Given the description of an element on the screen output the (x, y) to click on. 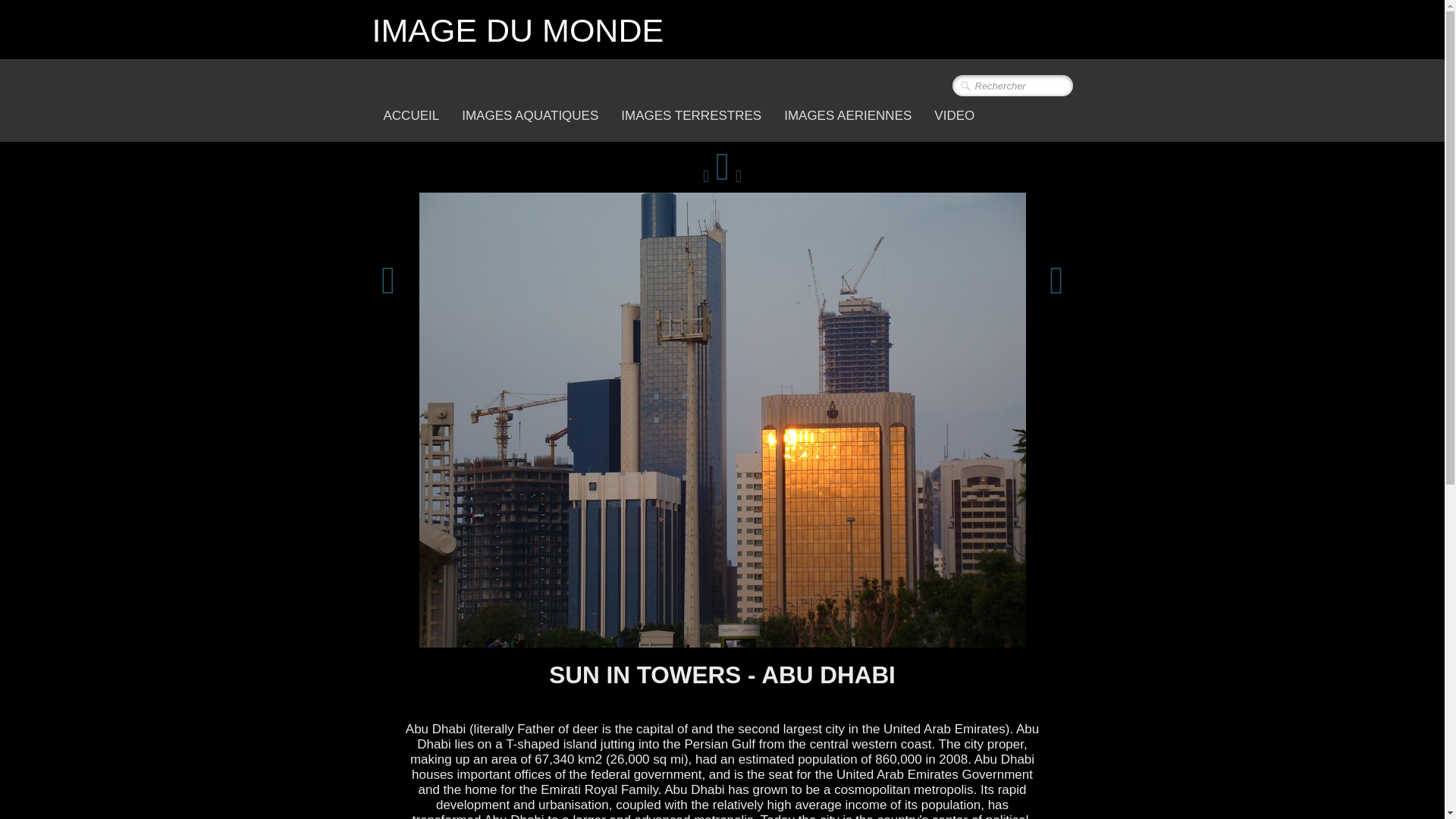
IMAGE DU MONDE (523, 27)
VIDEO (954, 115)
IMAGES AERIENNES (848, 115)
Index (721, 175)
IMAGES AQUATIQUES (529, 115)
IMAGES TERRESTRES (691, 115)
ACCUEIL (410, 115)
Suivant (1056, 280)
